Given the description of an element on the screen output the (x, y) to click on. 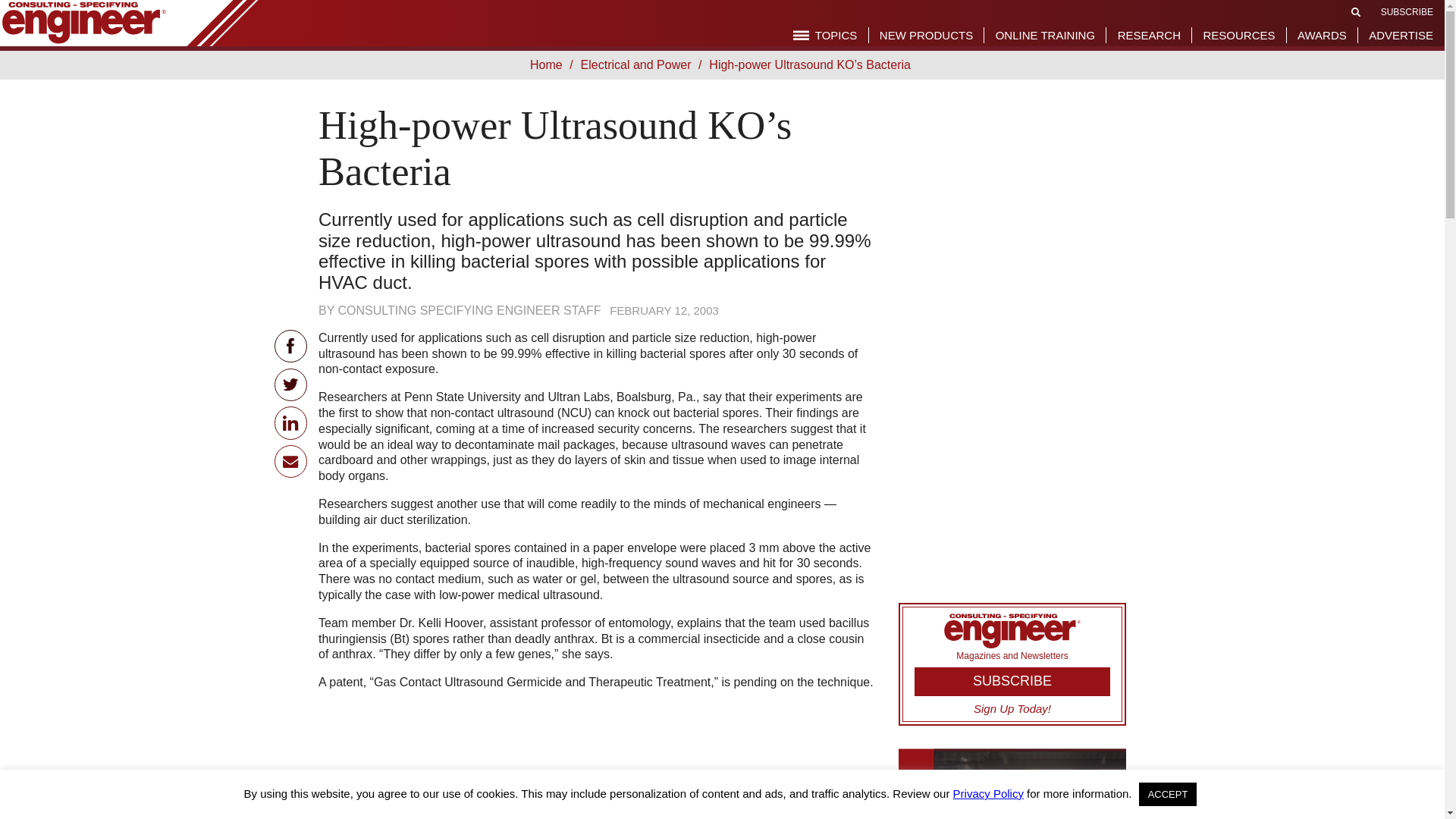
AWARDS (1321, 34)
ONLINE TRAINING (1045, 34)
SUBSCRIBE (1406, 11)
RESOURCES (1238, 34)
CONSULTING SPECIFYING ENGINEER STAFF (469, 309)
LinkedIn (291, 422)
TOPICS (824, 34)
Home (549, 64)
Facebook (291, 346)
NEW PRODUCTS (925, 34)
